Given the description of an element on the screen output the (x, y) to click on. 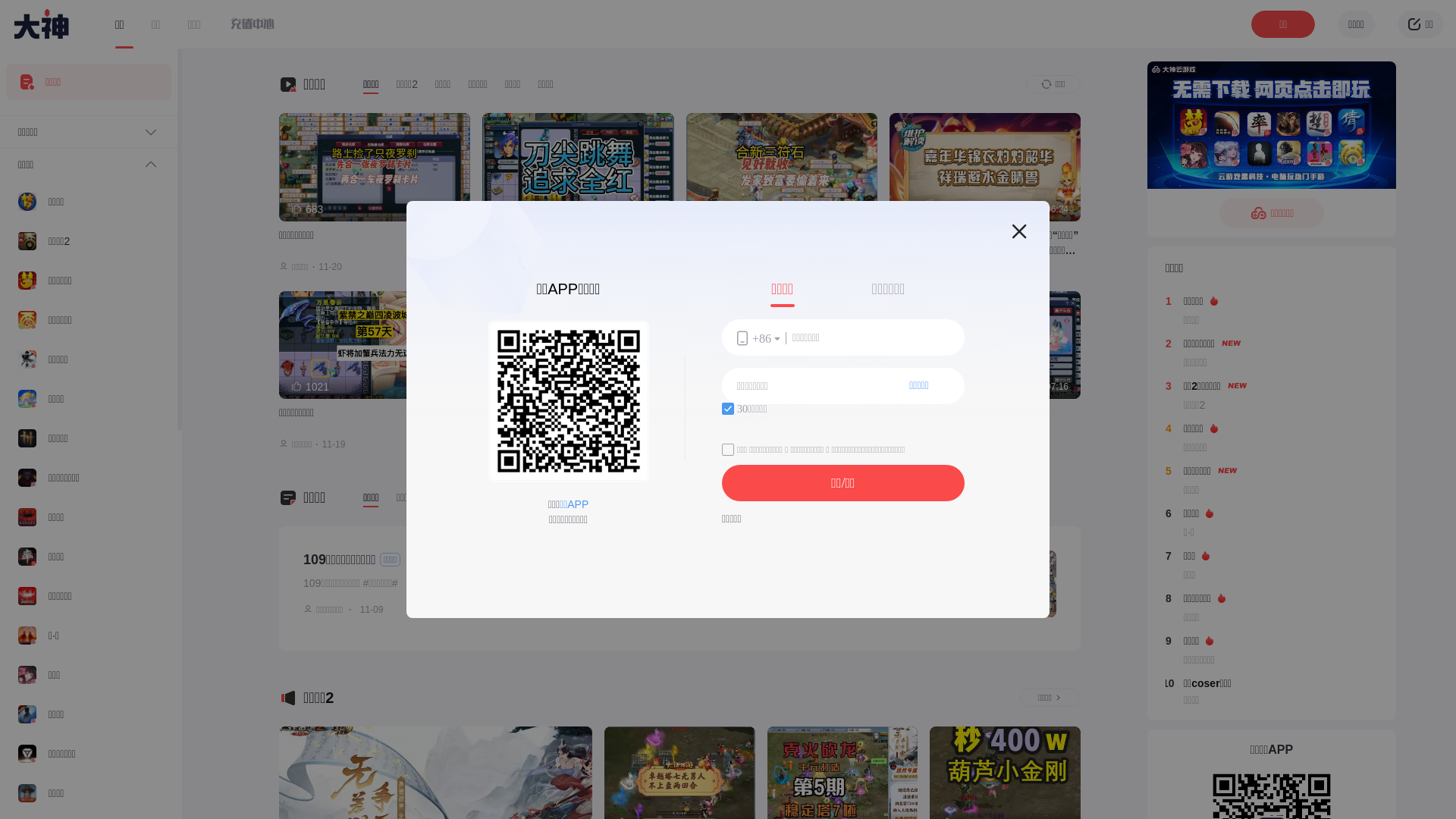
368 Element type: text (917, 386)
464 Element type: text (713, 209)
683 Element type: text (307, 209)
1021 Element type: text (310, 386)
640 Element type: text (917, 209)
16 Element type: text (423, 609)
740 Element type: text (713, 386)
846 Element type: text (510, 386)
621 Element type: text (510, 209)
11 Element type: text (478, 609)
